Given the description of an element on the screen output the (x, y) to click on. 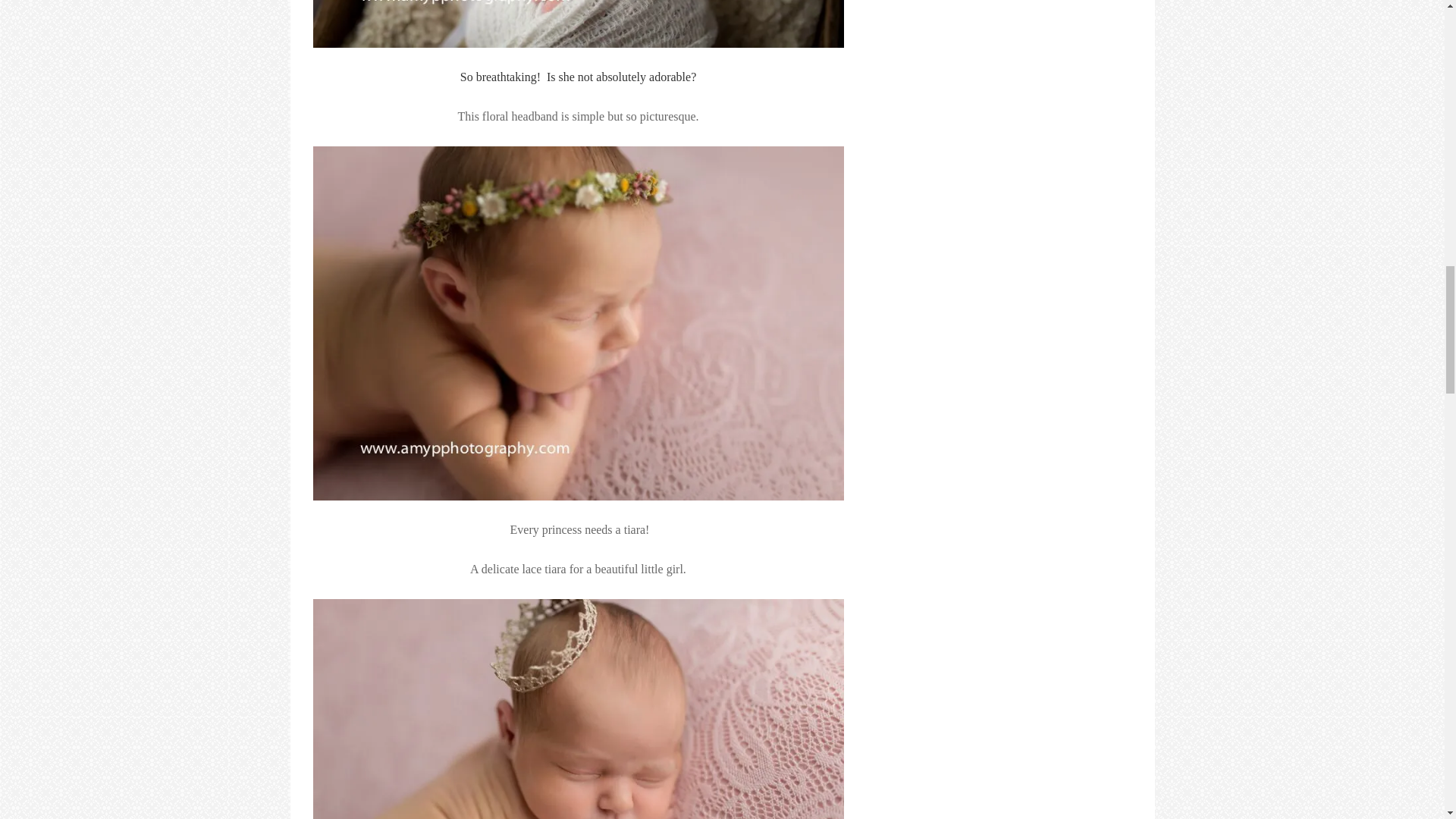
So breathtaking!  Is she not absolutely adorable? (577, 76)
